Given the description of an element on the screen output the (x, y) to click on. 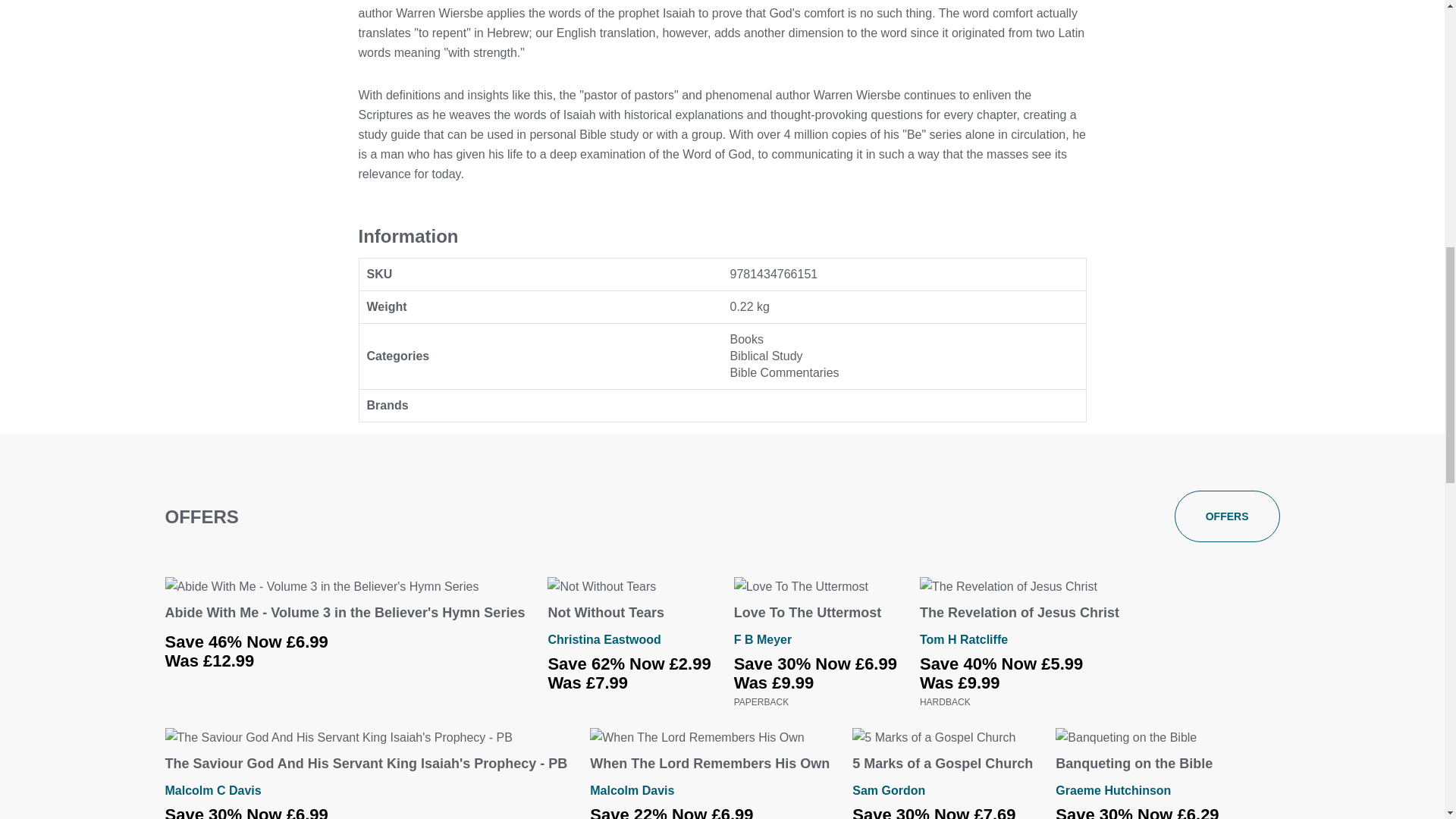
Abide With Me - Volume 3 in the Believer's Hymn Series (345, 612)
OFFERS (1226, 516)
